Given the description of an element on the screen output the (x, y) to click on. 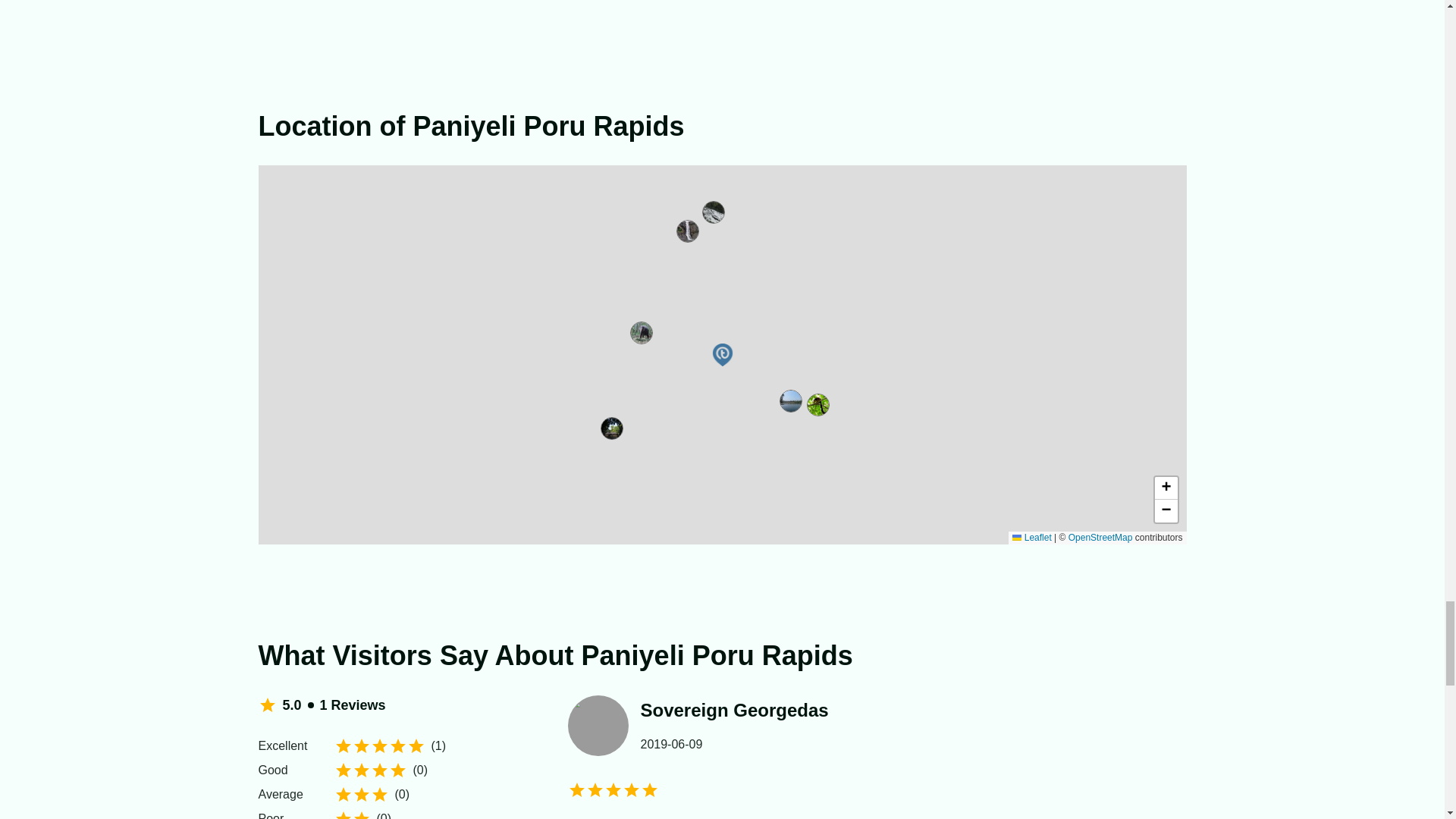
Zoom in (1165, 487)
Zoom out (1165, 510)
A JavaScript library for interactive maps (1031, 537)
